Given the description of an element on the screen output the (x, y) to click on. 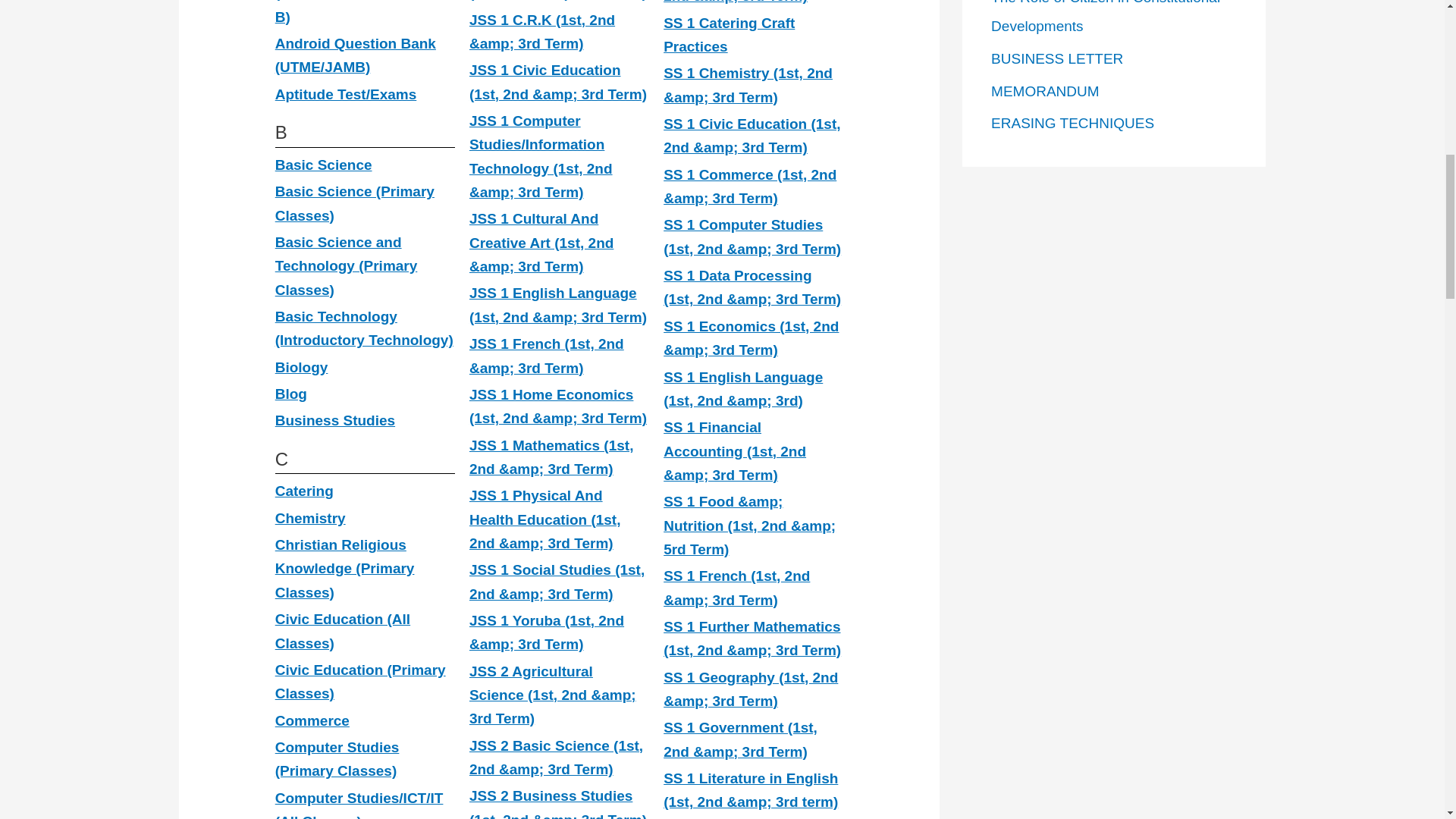
Biology (302, 367)
Catering (304, 490)
Catering (304, 490)
Blog (291, 393)
Business Studies (334, 420)
Basic Science (323, 164)
Commerce (312, 720)
Chemistry (310, 518)
Biology (302, 367)
Basic Science (323, 164)
